Given the description of an element on the screen output the (x, y) to click on. 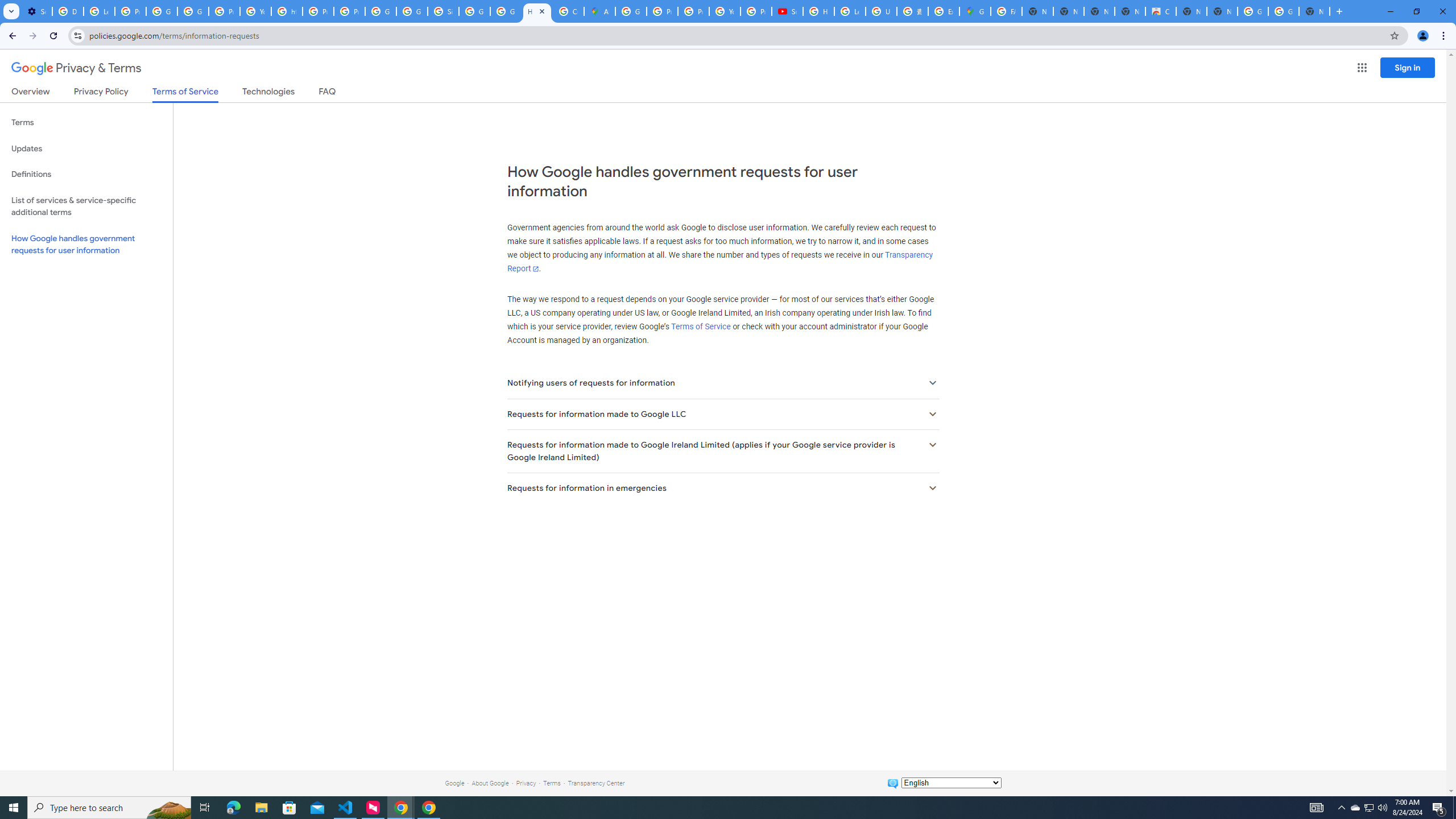
Privacy Help Center - Policies Help (693, 11)
Delete photos & videos - Computer - Google Photos Help (67, 11)
Change language: (951, 782)
About Google (490, 783)
Transparency Report (719, 262)
